Given the description of an element on the screen output the (x, y) to click on. 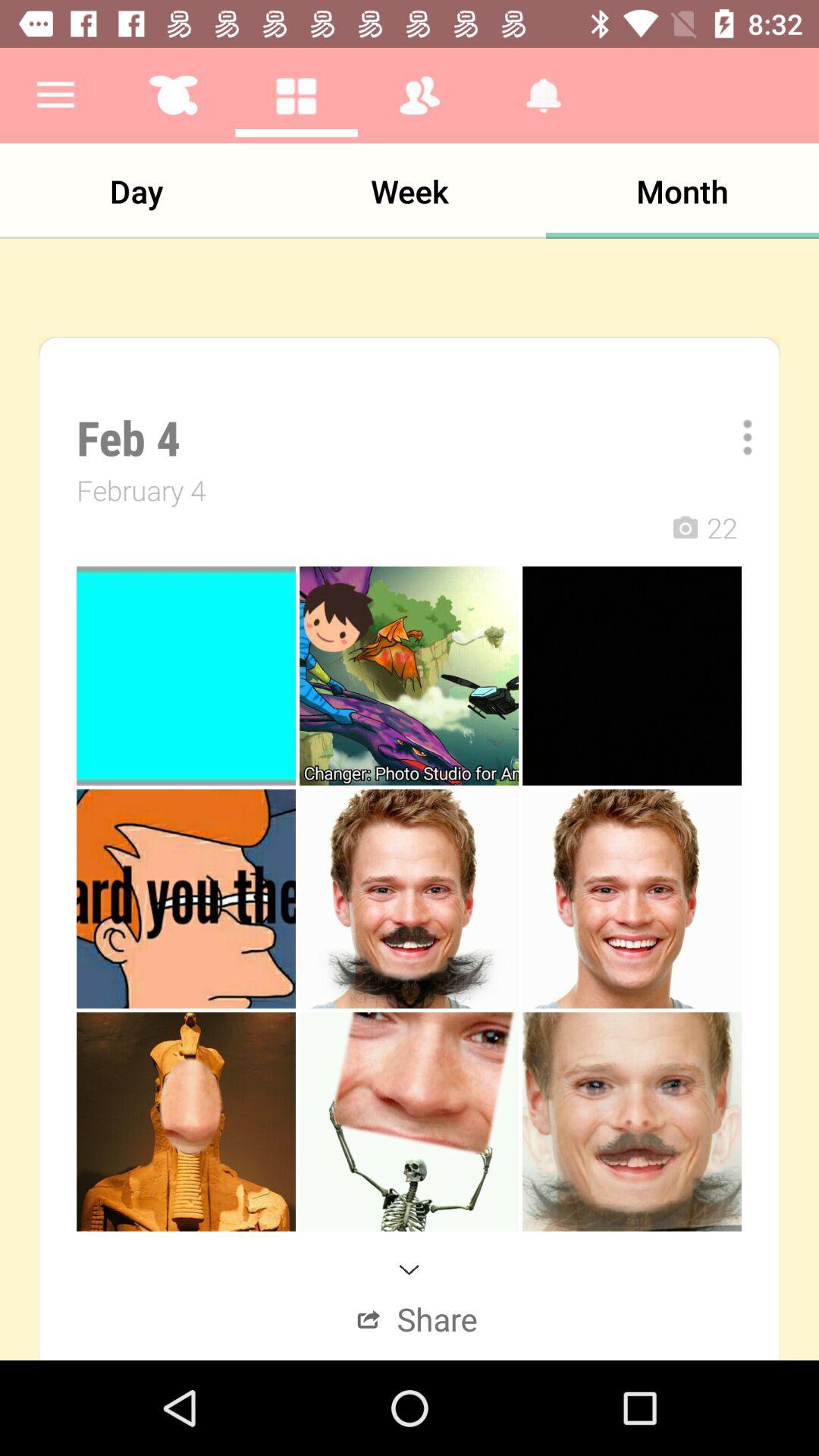
choose preferred view (737, 437)
